Given the description of an element on the screen output the (x, y) to click on. 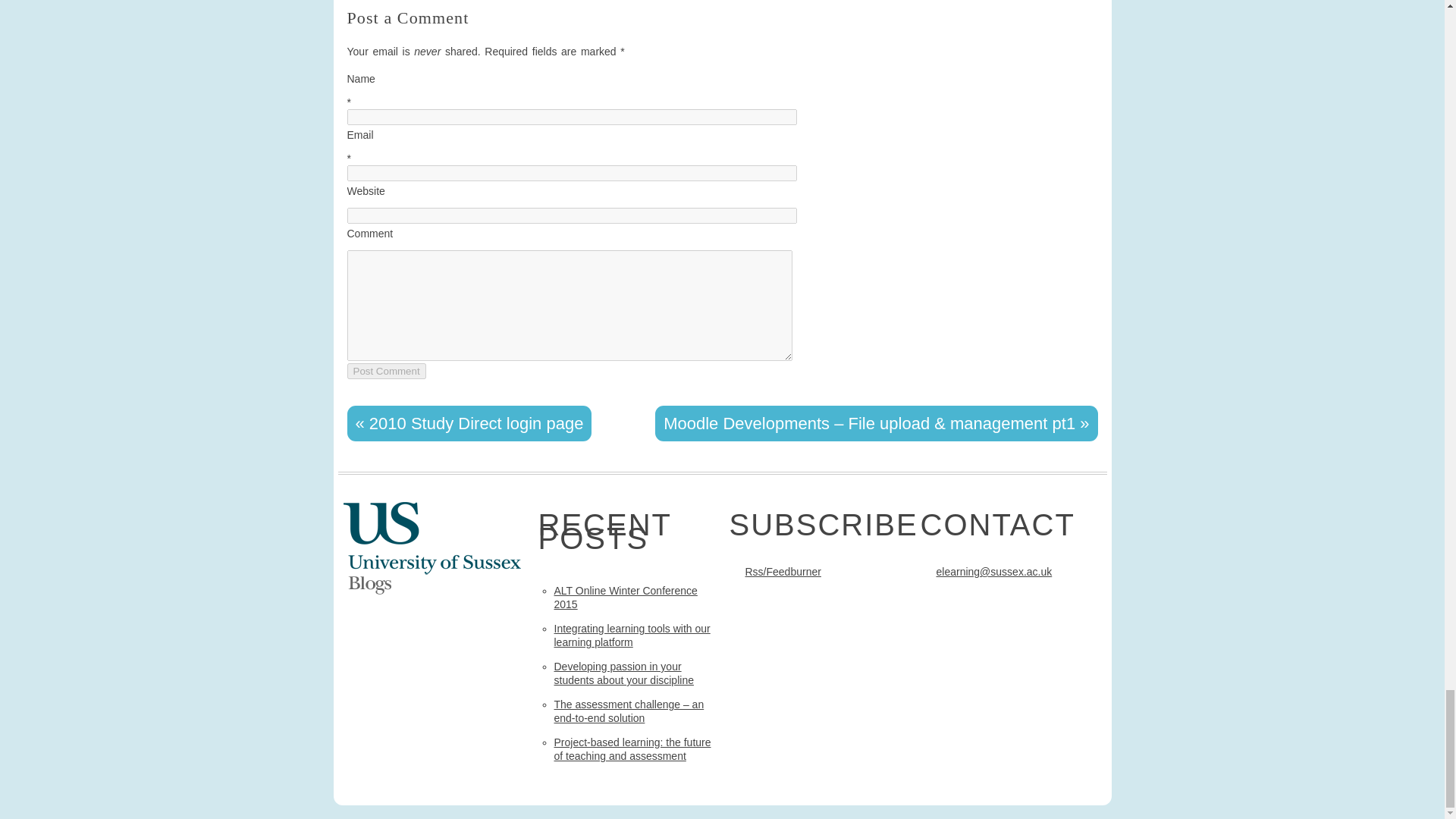
Post Comment (386, 371)
Post Comment (386, 371)
